Given the description of an element on the screen output the (x, y) to click on. 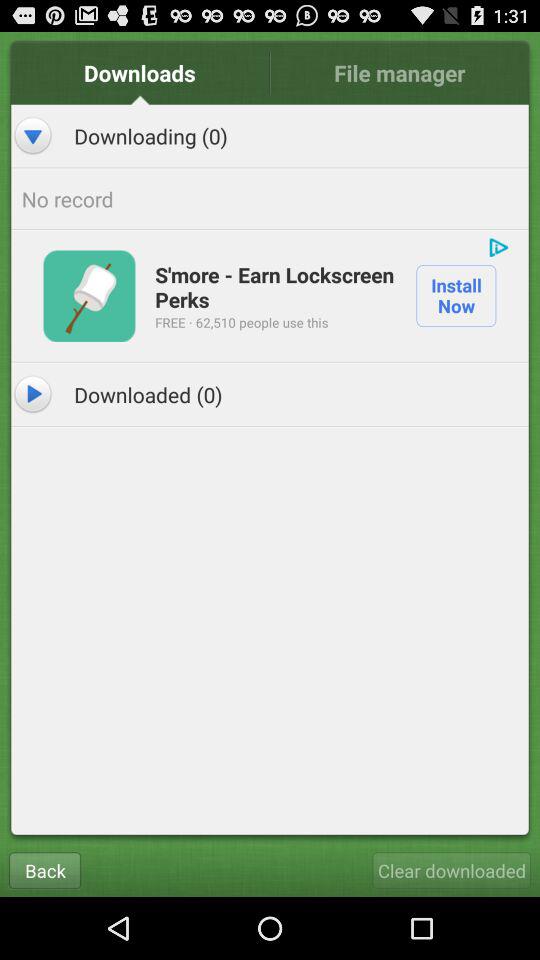
tap item below the no record item (275, 286)
